Given the description of an element on the screen output the (x, y) to click on. 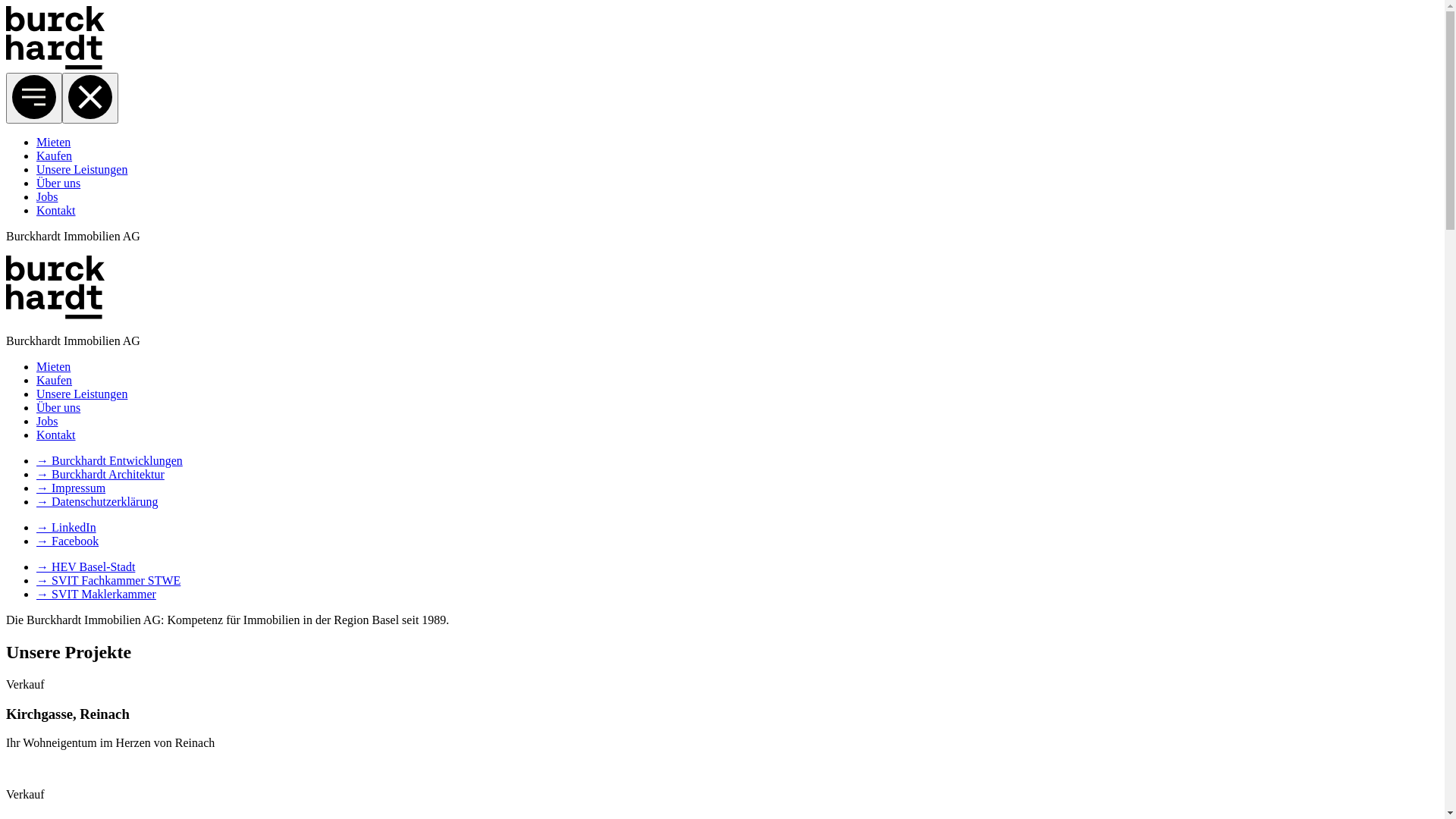
Kontakt Element type: text (55, 209)
Kontakt Element type: text (55, 434)
Unsere Leistungen Element type: text (81, 393)
Mieten Element type: text (53, 141)
Mieten Element type: text (53, 366)
Kaufen Element type: text (54, 379)
Jobs Element type: text (46, 420)
Jobs Element type: text (46, 196)
Kaufen Element type: text (54, 155)
Unsere Leistungen Element type: text (81, 169)
